Given the description of an element on the screen output the (x, y) to click on. 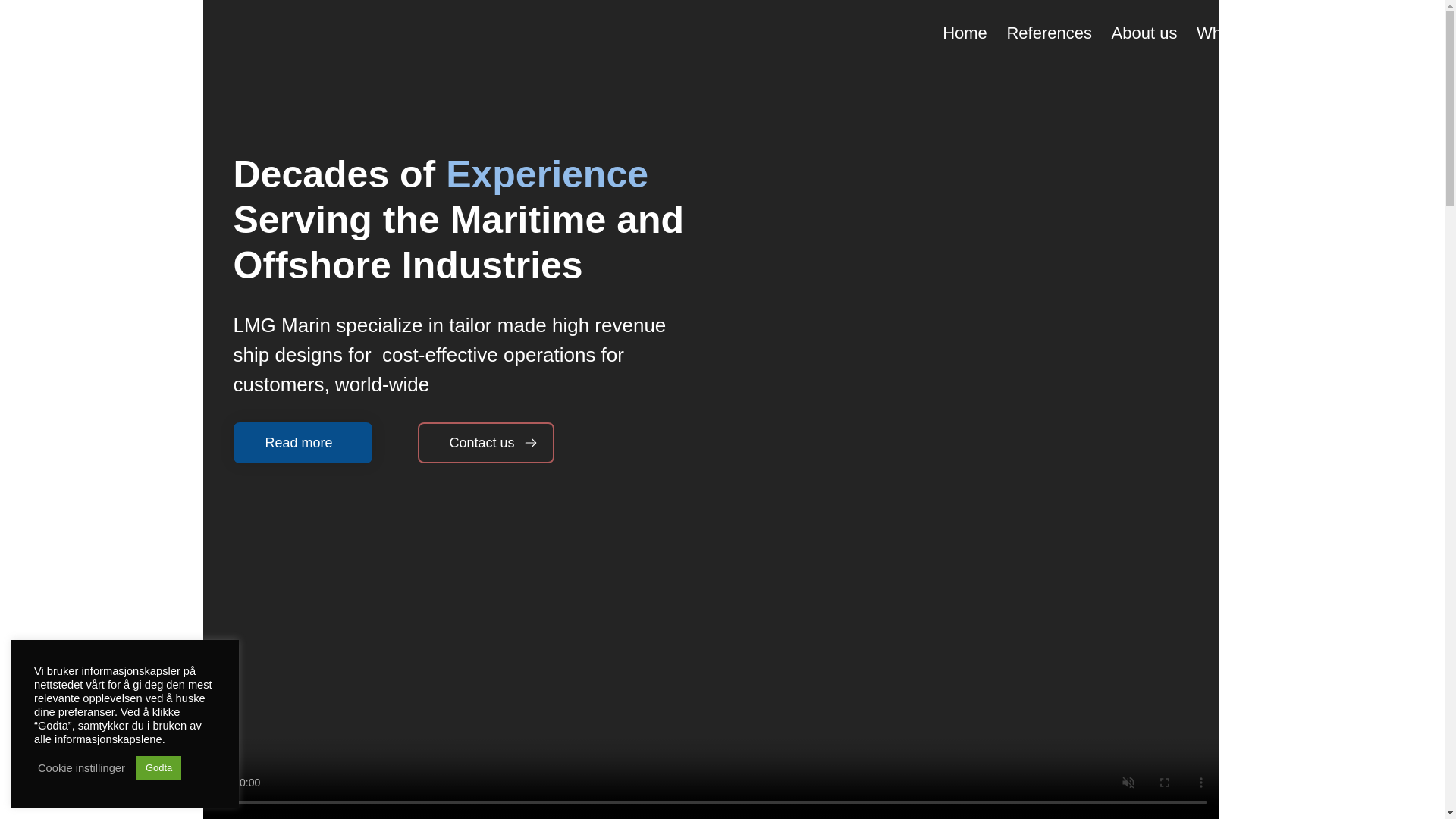
Home (964, 31)
What we do (1240, 31)
About us (1144, 31)
Contact (1393, 31)
Contact us (485, 442)
References (1049, 31)
About us (1144, 31)
References (1049, 31)
News (1324, 31)
Contact (1393, 31)
Read more (302, 442)
News (1324, 31)
Home (964, 31)
What we do (1240, 31)
